Given the description of an element on the screen output the (x, y) to click on. 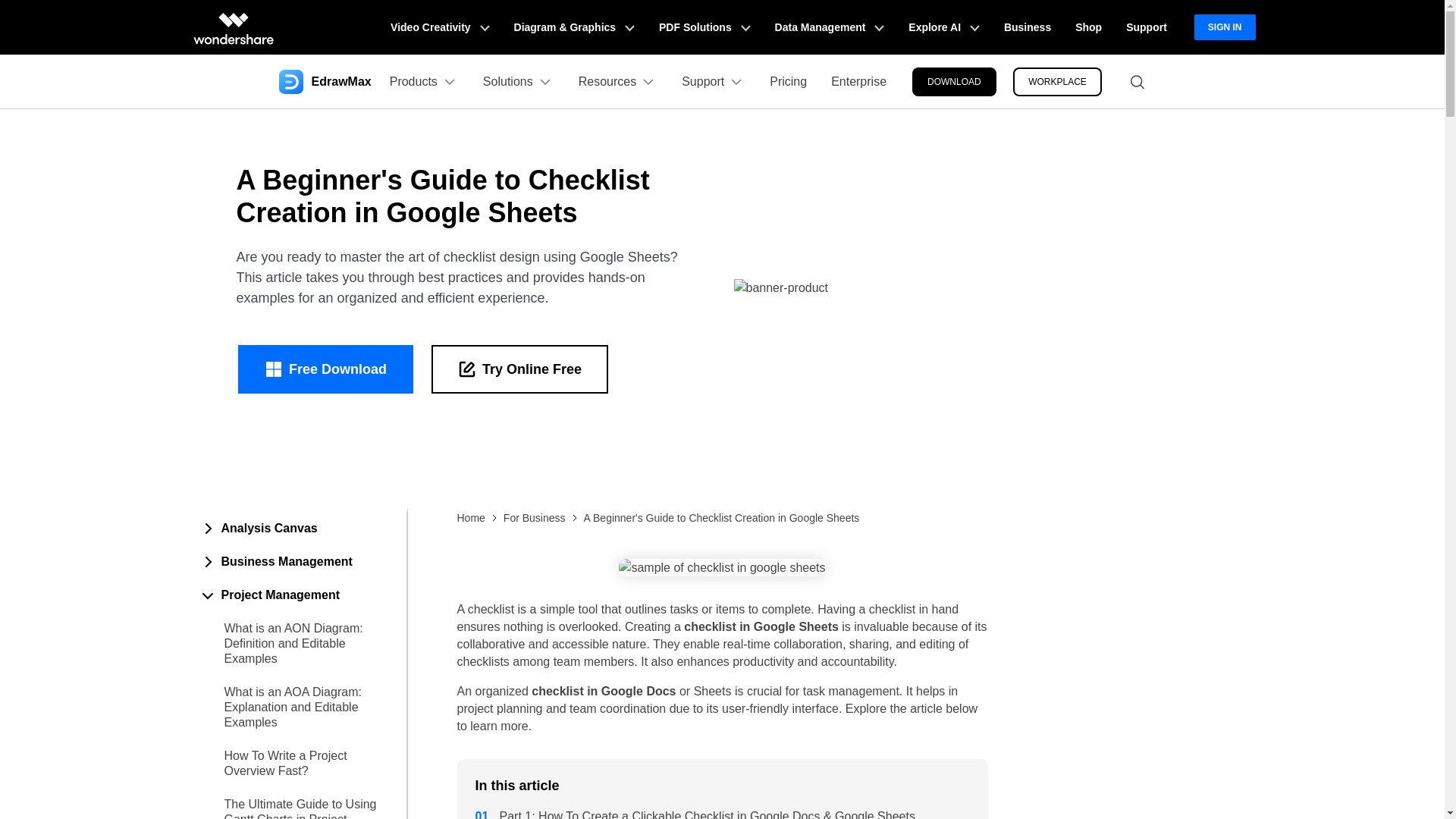
Business (1026, 27)
Video Creativity (439, 27)
Data Management (829, 27)
Explore AI (943, 27)
PDF Solutions (704, 27)
